Given the description of an element on the screen output the (x, y) to click on. 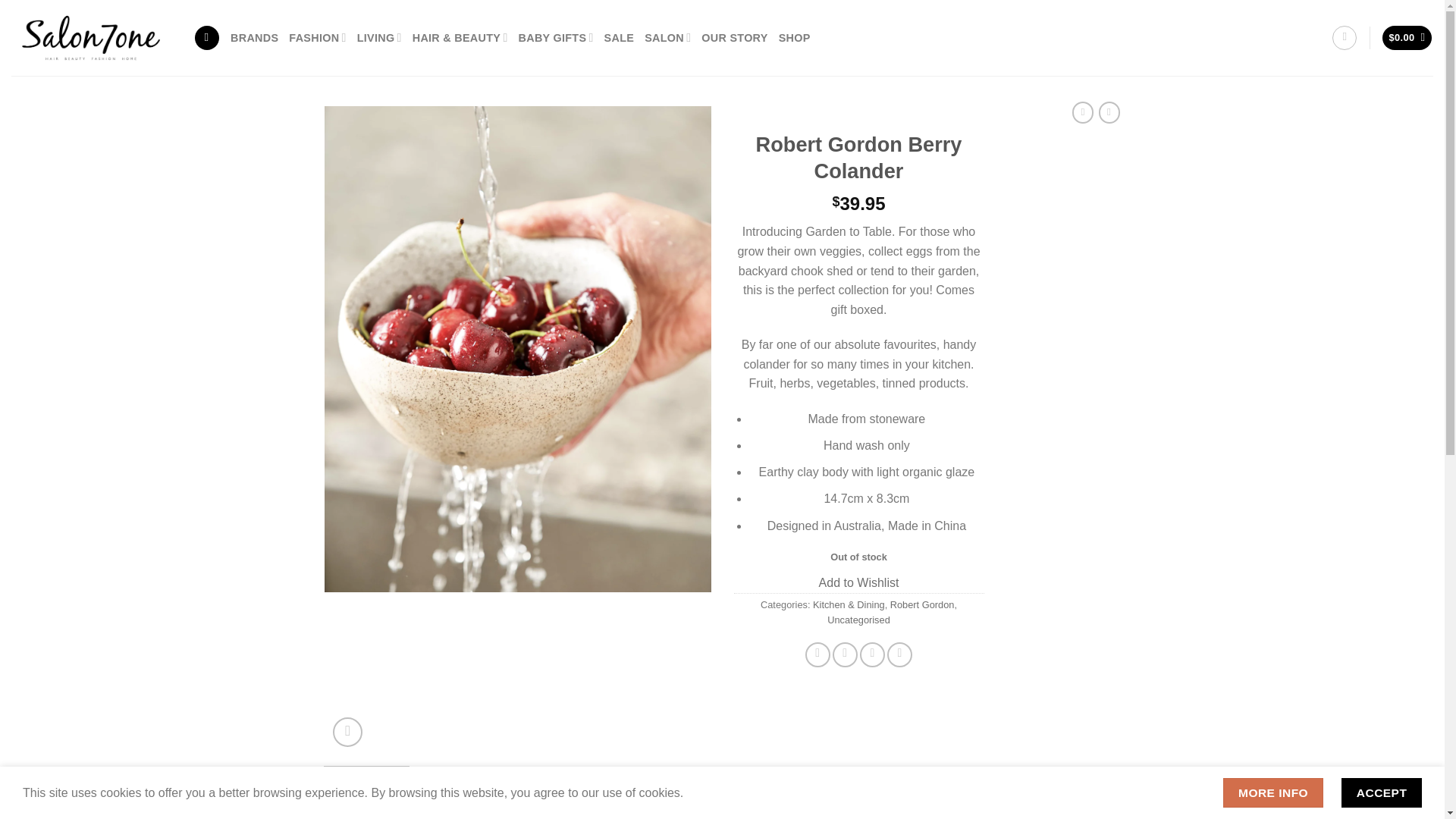
Cart (1406, 37)
Zoom (347, 731)
Pin on Pinterest (899, 654)
Email to a Friend (872, 654)
Colac Online Homewares (794, 37)
FASHION (317, 37)
Share on Facebook (817, 654)
Share on Twitter (844, 654)
LIVING (378, 37)
BRANDS (254, 37)
BABY GIFTS (556, 37)
SALE (619, 37)
